Given the description of an element on the screen output the (x, y) to click on. 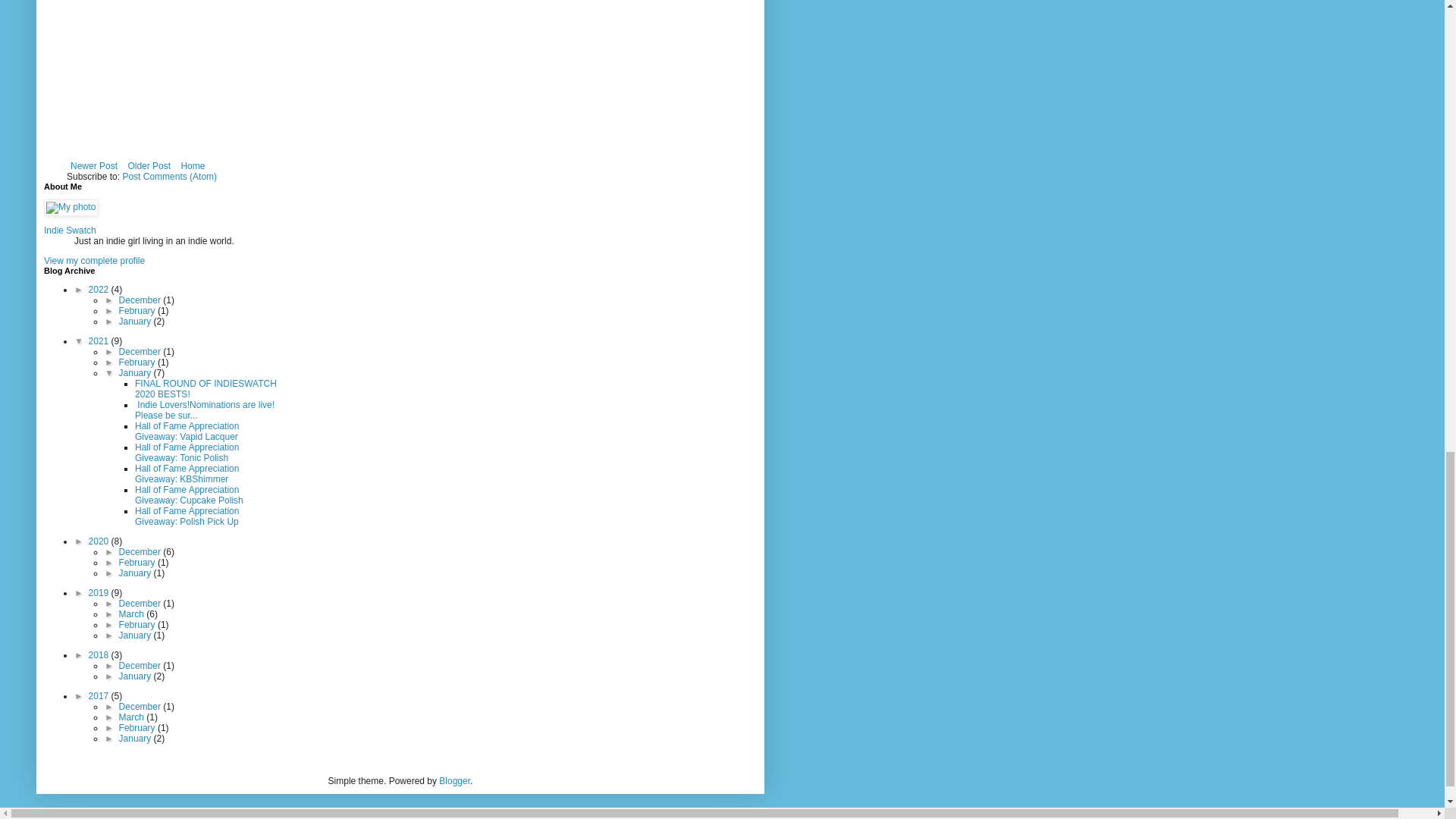
2022 (100, 289)
Home (192, 166)
2021 (100, 340)
December (141, 299)
Older Post (148, 166)
Newer Post (93, 166)
January (136, 321)
December (141, 351)
View my complete profile (93, 260)
Indie Swatch (69, 230)
February (138, 310)
Older Post (148, 166)
Newer Post (93, 166)
